Given the description of an element on the screen output the (x, y) to click on. 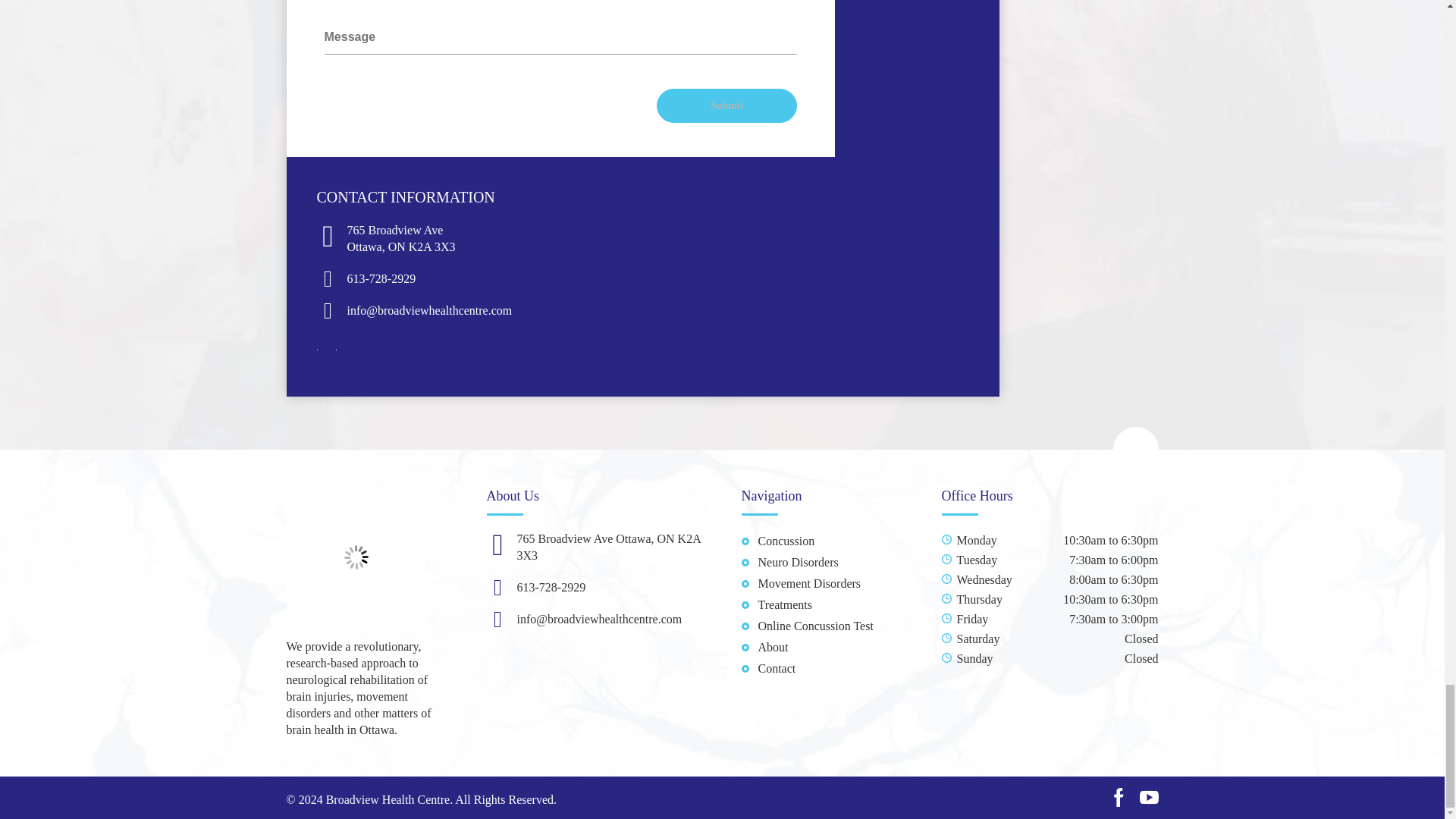
Submit (726, 105)
